Given the description of an element on the screen output the (x, y) to click on. 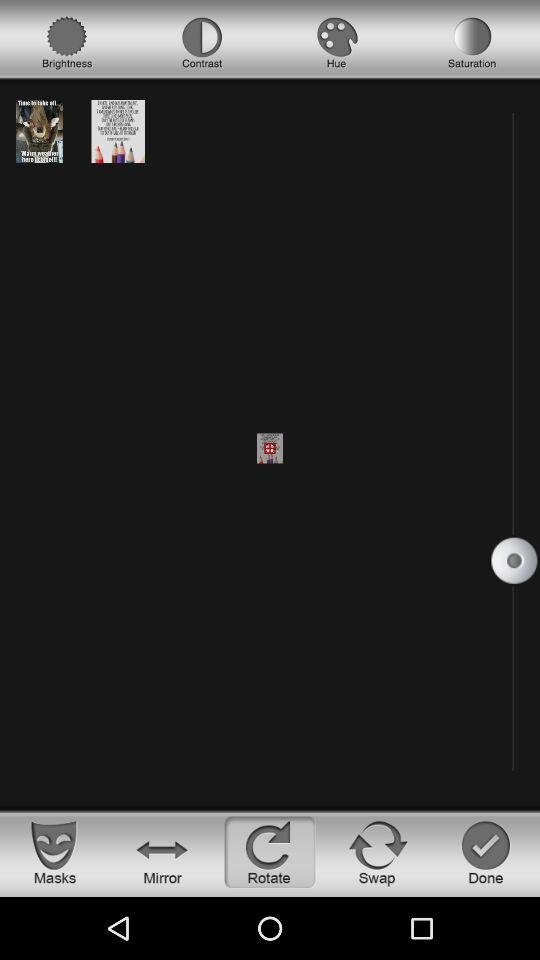
open brightness setting (67, 43)
